Given the description of an element on the screen output the (x, y) to click on. 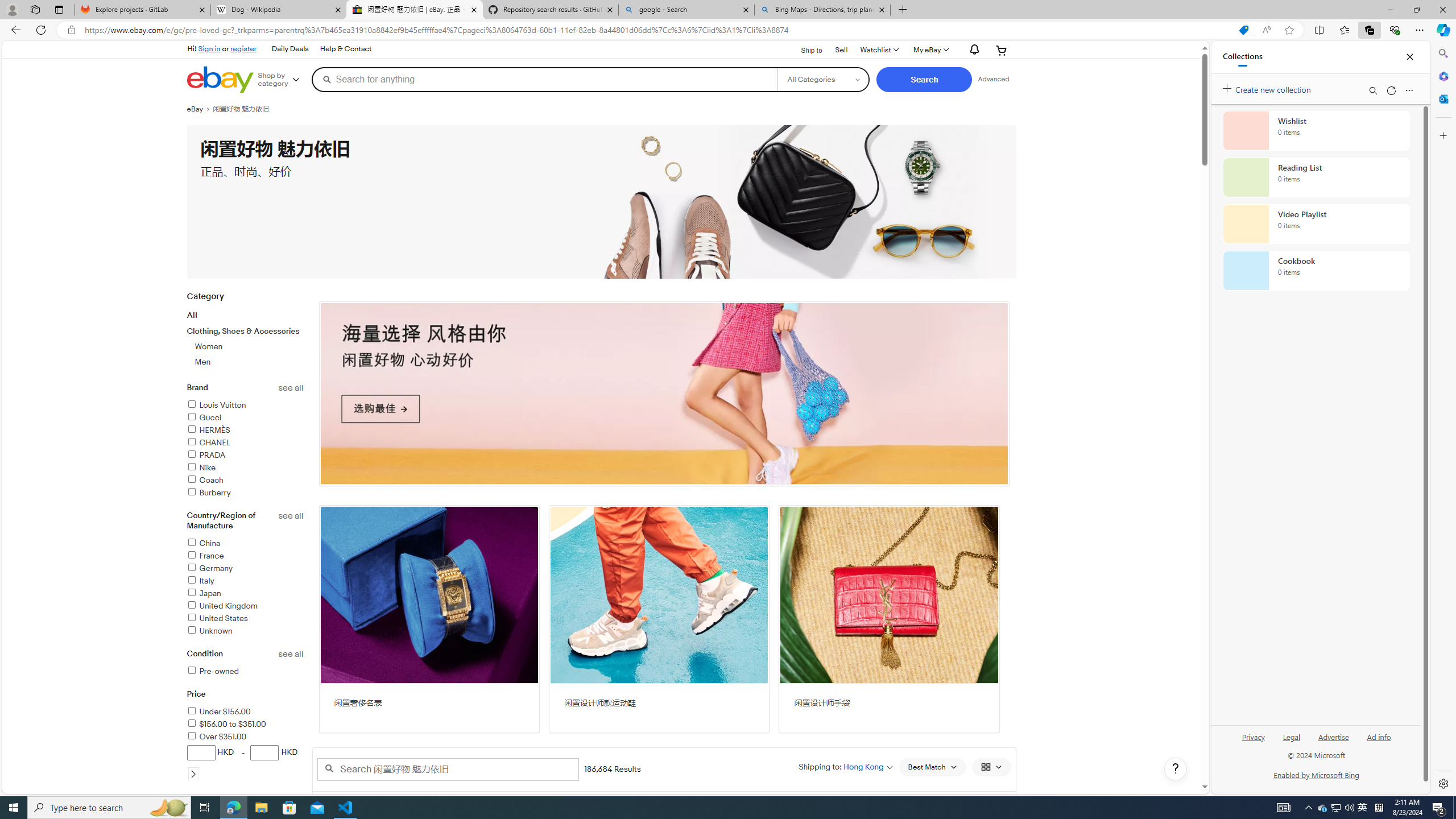
Daily Deals (289, 49)
register (243, 48)
HKD-HKD (245, 761)
$156.00 to $351.00 (226, 723)
CHANEL (245, 443)
Men (203, 361)
WatchlistExpand Watch List (878, 49)
eBay (199, 108)
